Given the description of an element on the screen output the (x, y) to click on. 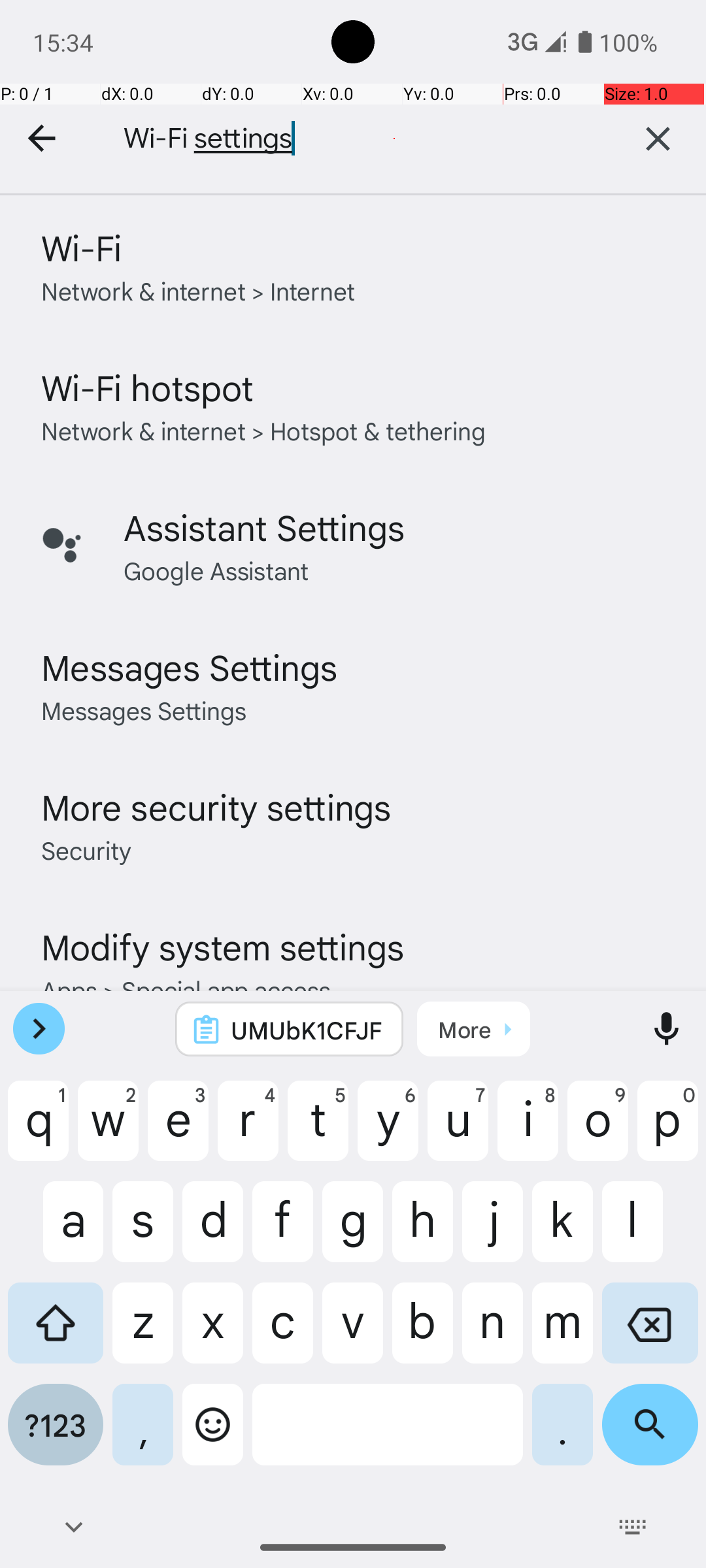
Wi-Fi settings Element type: android.widget.EditText (345, 138)
Clear text Element type: android.widget.ImageButton (657, 138)
Wi-Fi Element type: android.widget.TextView (81, 246)
Network & internet > Internet Element type: android.widget.TextView (198, 289)
Wi-Fi hotspot Element type: android.widget.TextView (147, 386)
Network & internet > Hotspot & tethering Element type: android.widget.TextView (263, 429)
Assistant Settings Element type: android.widget.TextView (263, 526)
Google Assistant Element type: android.widget.TextView (215, 569)
Messages Settings Element type: android.widget.TextView (189, 666)
More security settings Element type: android.widget.TextView (216, 806)
Security Element type: android.widget.TextView (86, 848)
Modify system settings Element type: android.widget.TextView (222, 945)
Apps > Special app access Element type: android.widget.TextView (185, 988)
